Given the description of an element on the screen output the (x, y) to click on. 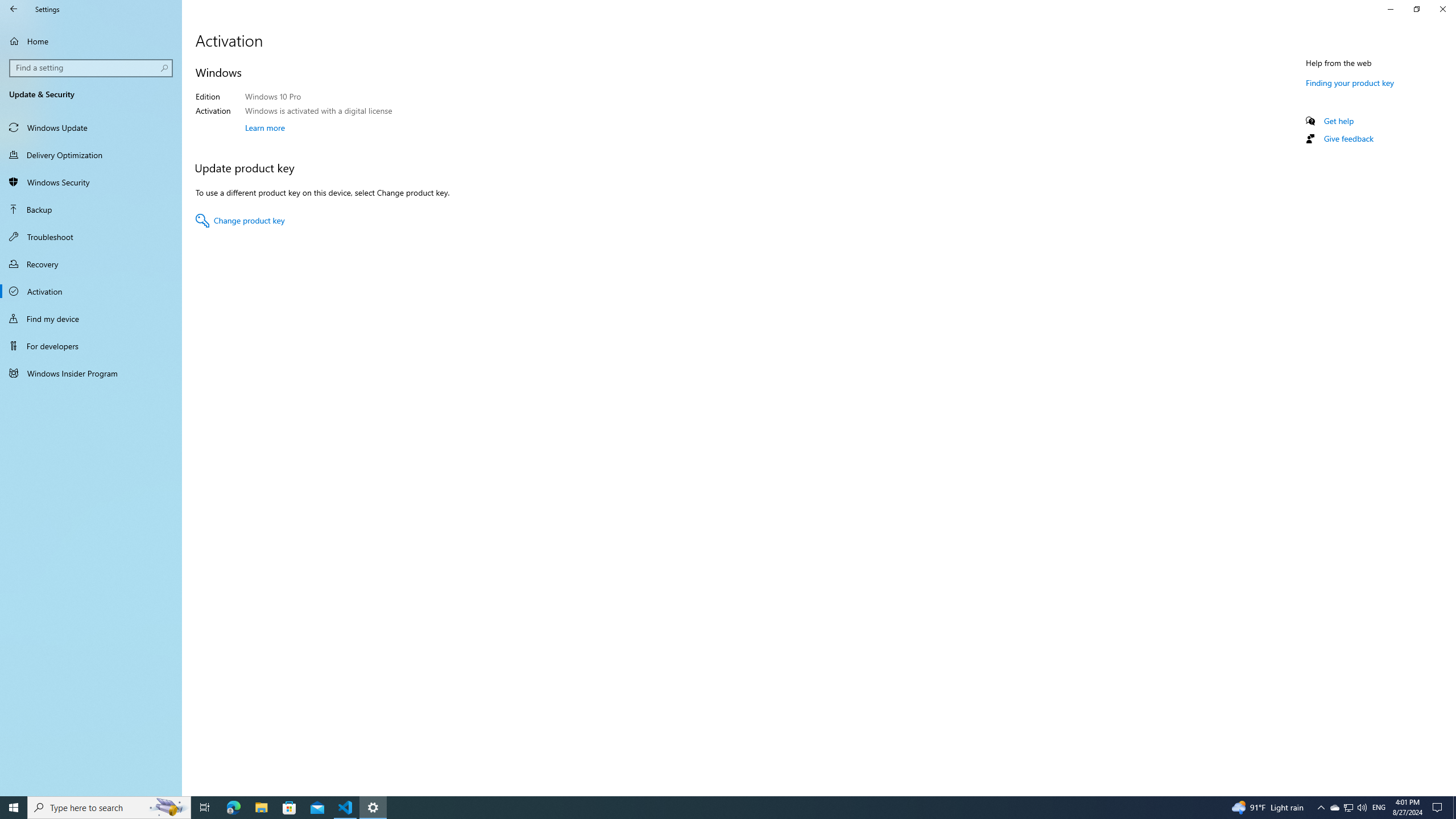
Windows Security (91, 181)
Find my device (91, 318)
For developers (91, 345)
Backup (91, 208)
